Given the description of an element on the screen output the (x, y) to click on. 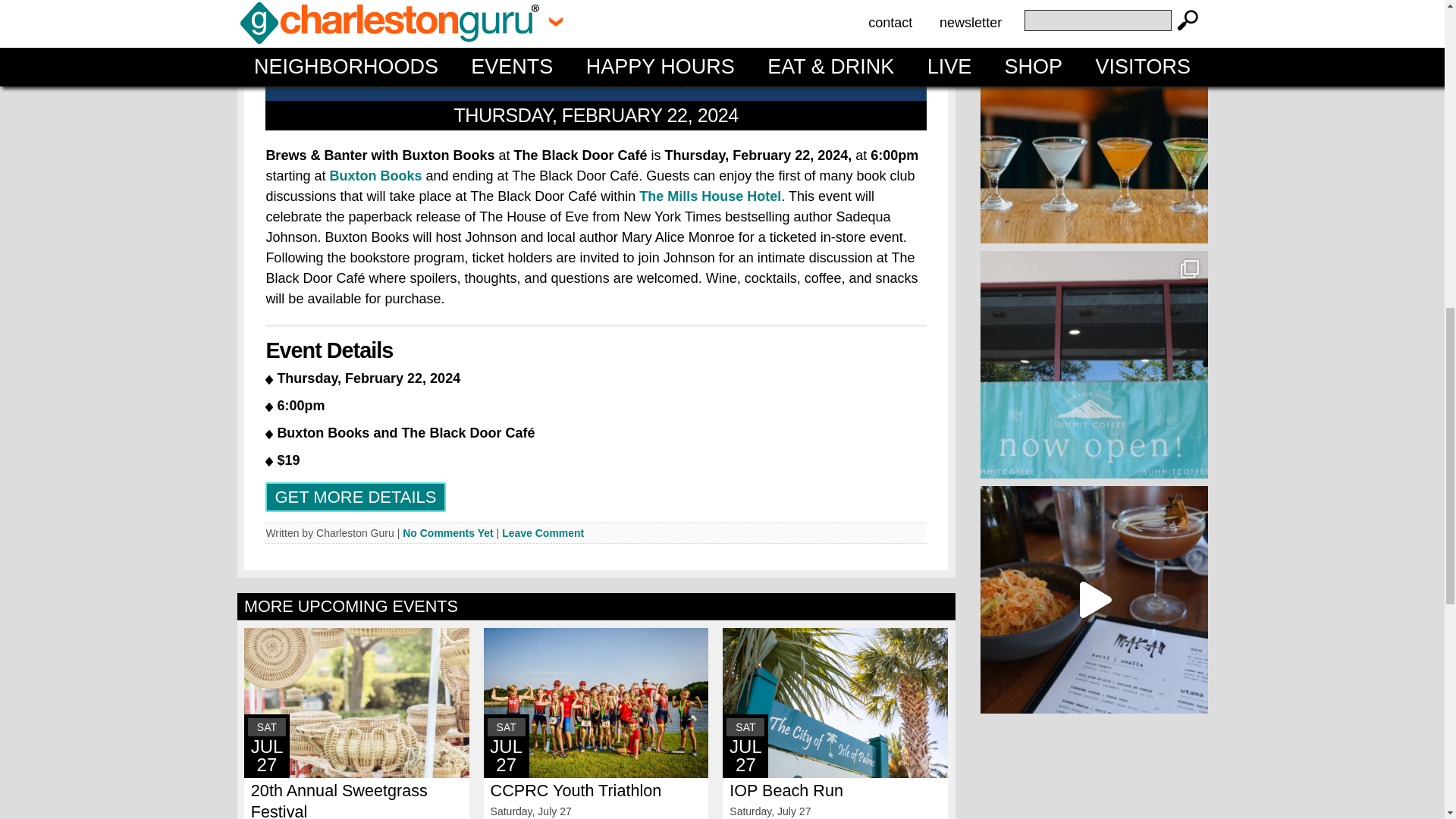
Leave Comment (542, 532)
No Comments Yet (448, 532)
Buxton Books (373, 175)
GET MORE DETAILS (354, 496)
The Mills House Hotel (709, 196)
